Given the description of an element on the screen output the (x, y) to click on. 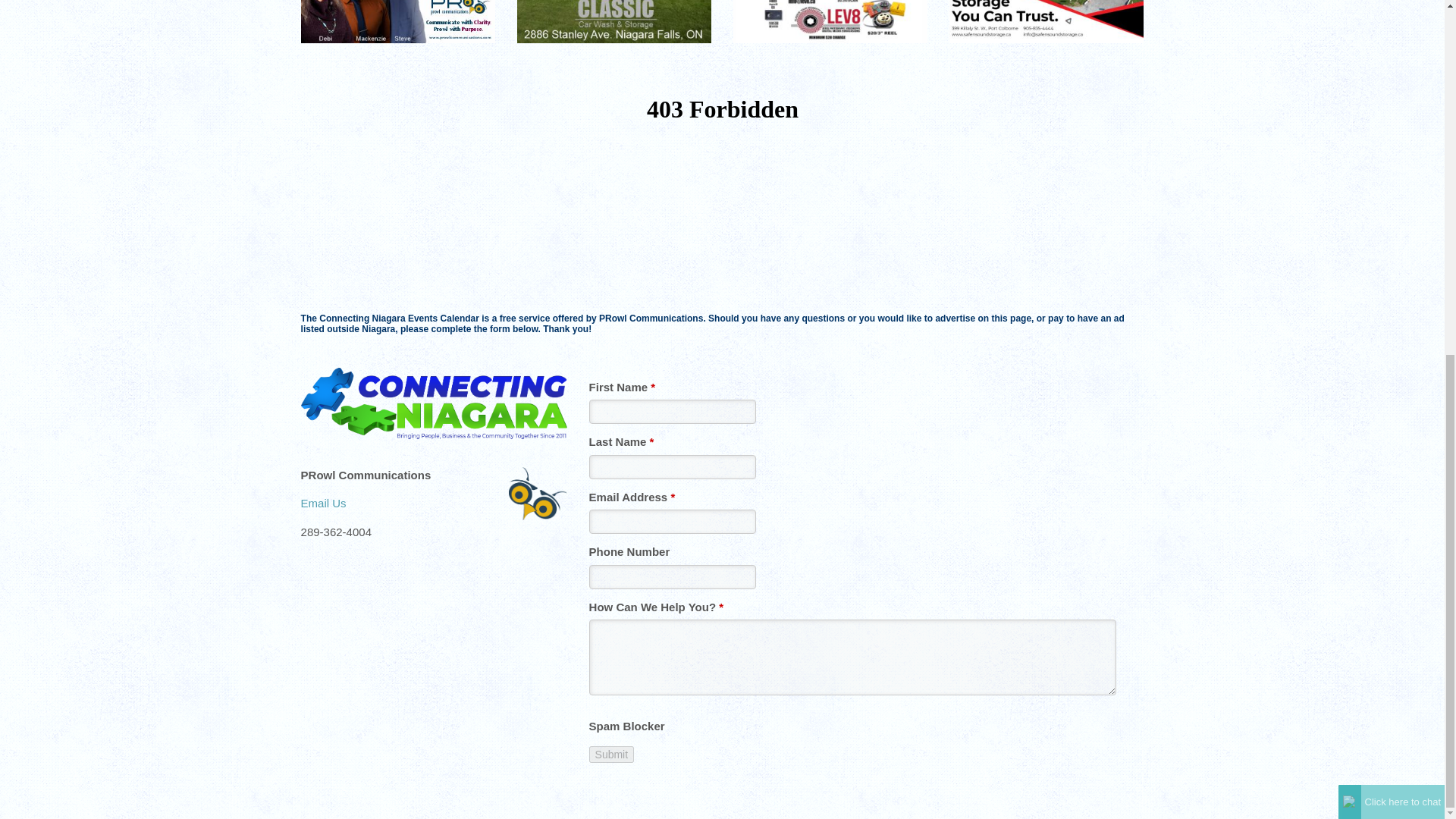
Submit (611, 754)
Submit (611, 754)
Email Us (323, 502)
Online (1349, 181)
Email us (323, 502)
